Given the description of an element on the screen output the (x, y) to click on. 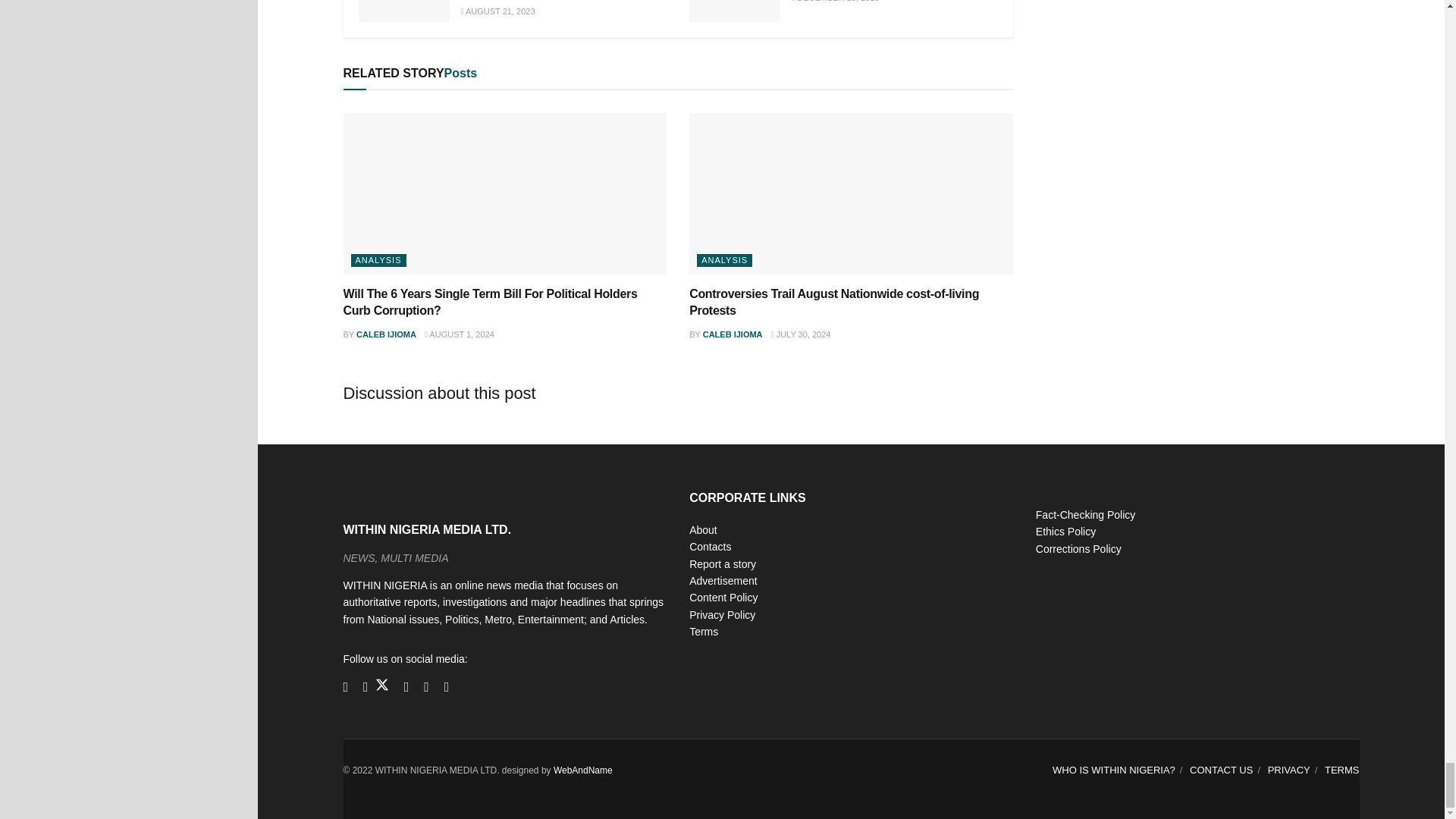
WEB AND NAME (582, 769)
